Given the description of an element on the screen output the (x, y) to click on. 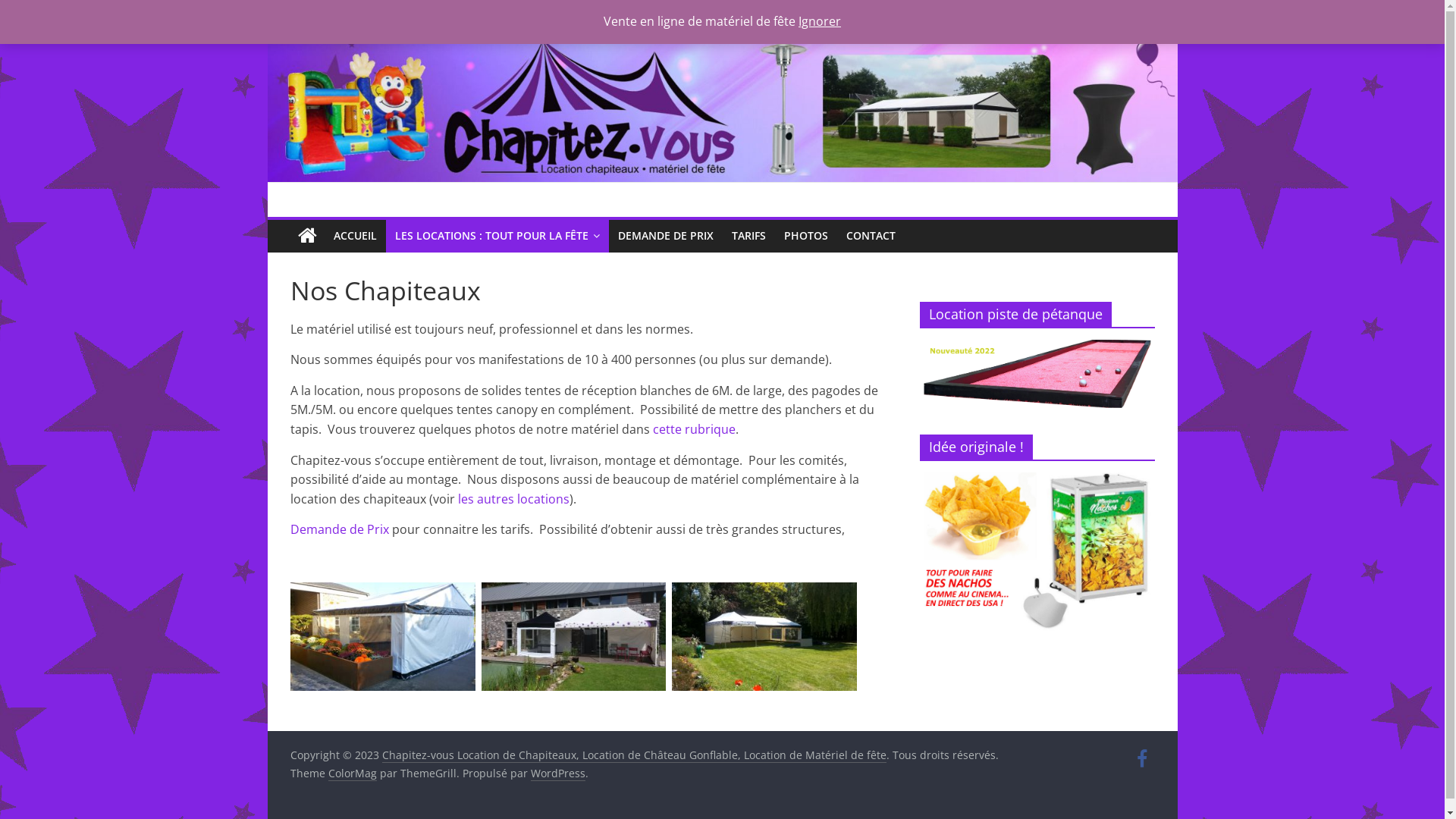
cette rubrique Element type: text (693, 428)
ACCUEIL Element type: text (354, 235)
les autres locations Element type: text (513, 498)
ColorMag Element type: text (351, 773)
DEMANDE DE PRIX Element type: text (664, 235)
CONTACT Element type: text (870, 235)
Passer au contenu Element type: text (266, 6)
TARIFS Element type: text (747, 235)
WordPress Element type: text (557, 773)
PHOTOS Element type: text (806, 235)
Demande de Prix Element type: text (338, 528)
Ignorer Element type: text (819, 20)
